Given the description of an element on the screen output the (x, y) to click on. 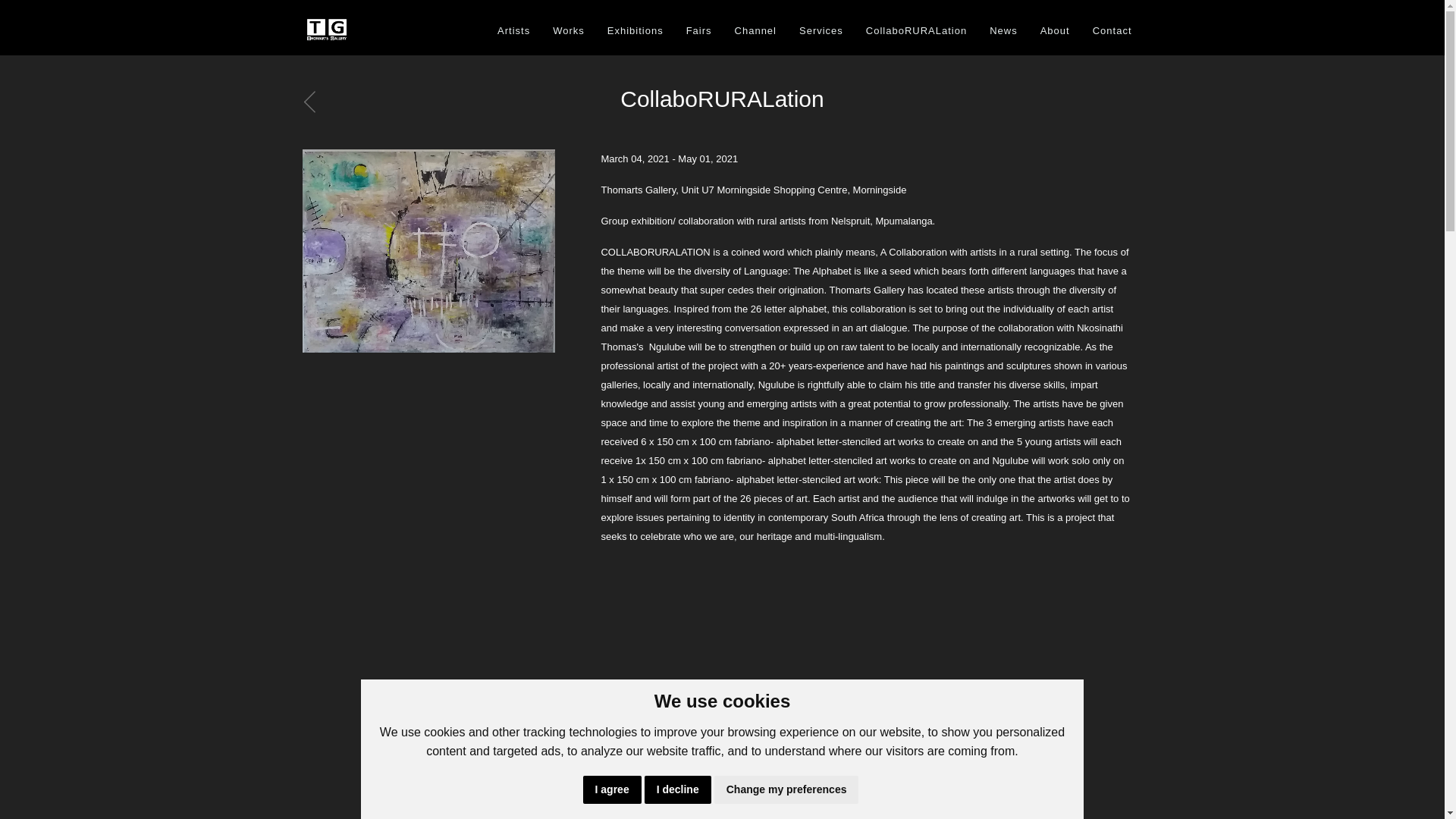
Exhibitions (635, 29)
Change my preferences (786, 789)
CollaboRURALation (916, 29)
Services (821, 29)
Thomarts Gallery (325, 30)
I agree (612, 789)
I decline (678, 789)
